Given the description of an element on the screen output the (x, y) to click on. 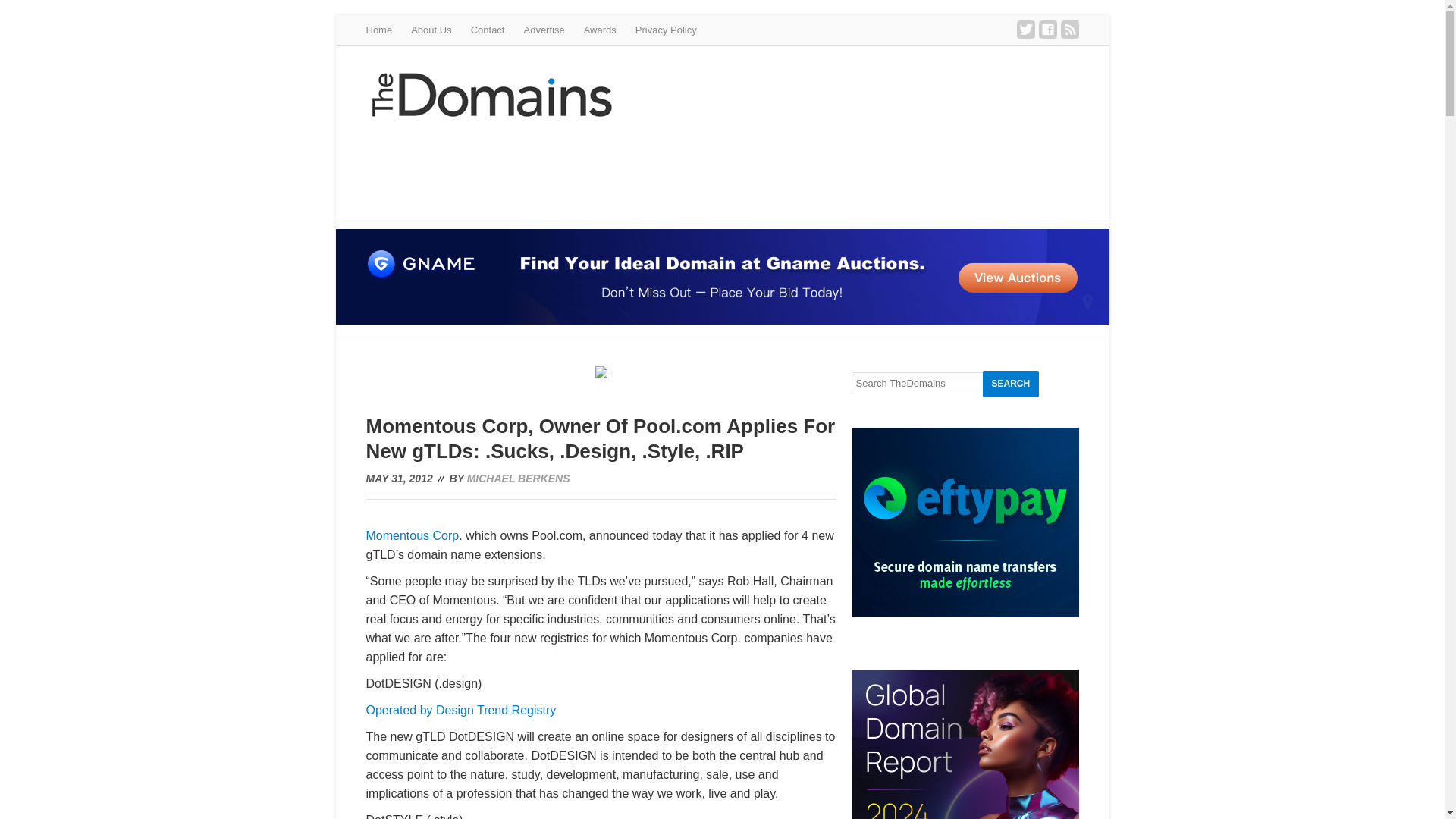
Operated by Design Trend Registry (460, 709)
Search (1010, 384)
Contact (487, 30)
MICHAEL BERKENS (518, 478)
Twitter (1024, 29)
Search (1010, 384)
Privacy Policy (665, 30)
About Us (430, 30)
Posts by Michael Berkens (518, 478)
Facebook (1048, 29)
